Given the description of an element on the screen output the (x, y) to click on. 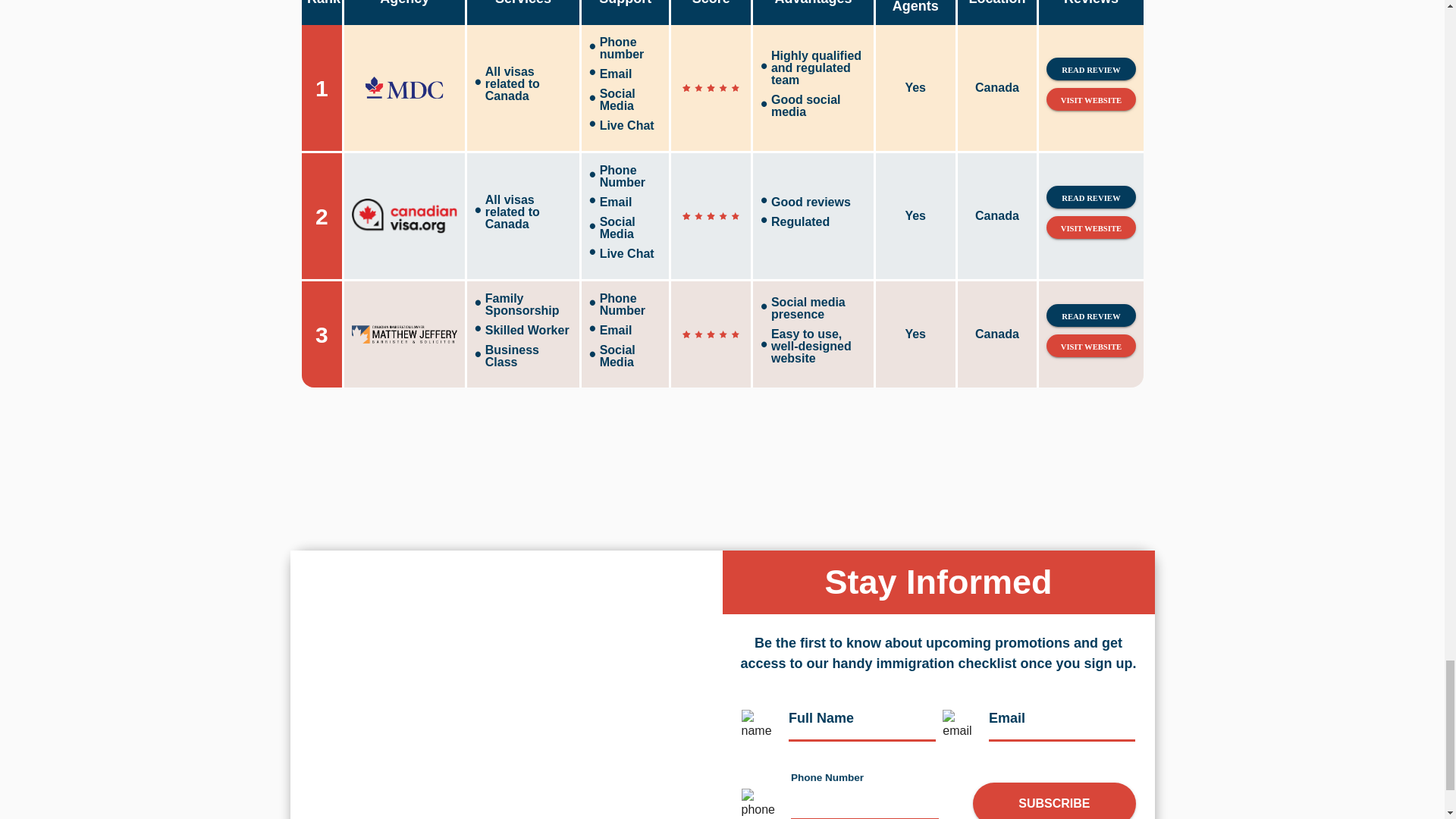
VISIT WEBSITE (1090, 98)
READ REVIEW (1090, 196)
VISIT WEBSITE (1090, 227)
READ REVIEW (1090, 68)
